Given the description of an element on the screen output the (x, y) to click on. 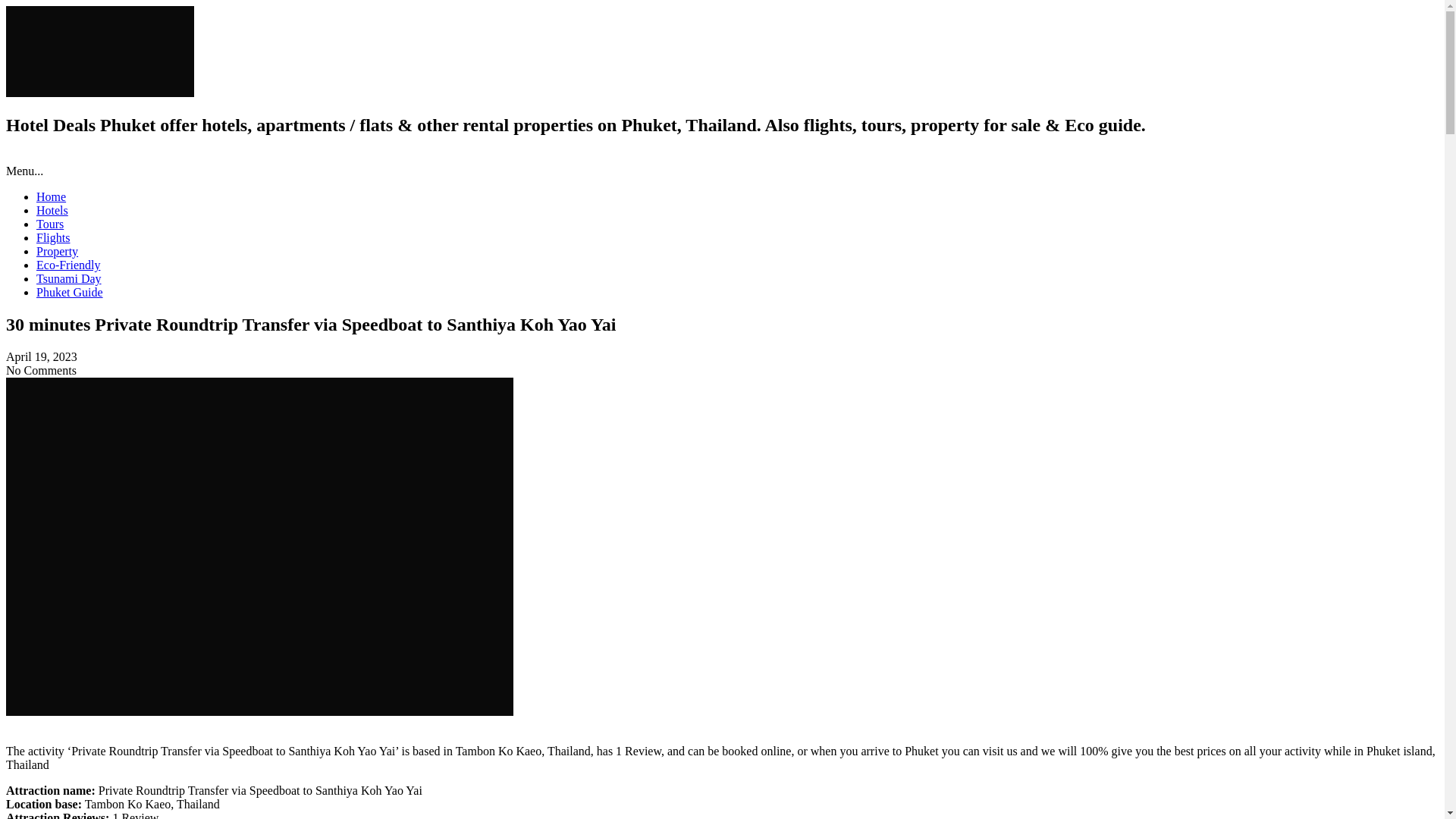
Flights (52, 237)
Hotels (52, 210)
Phuket Guide (69, 291)
Tsunami Day (68, 278)
Property (57, 250)
Eco-Friendly (68, 264)
Tours (50, 223)
Home (50, 196)
